Given the description of an element on the screen output the (x, y) to click on. 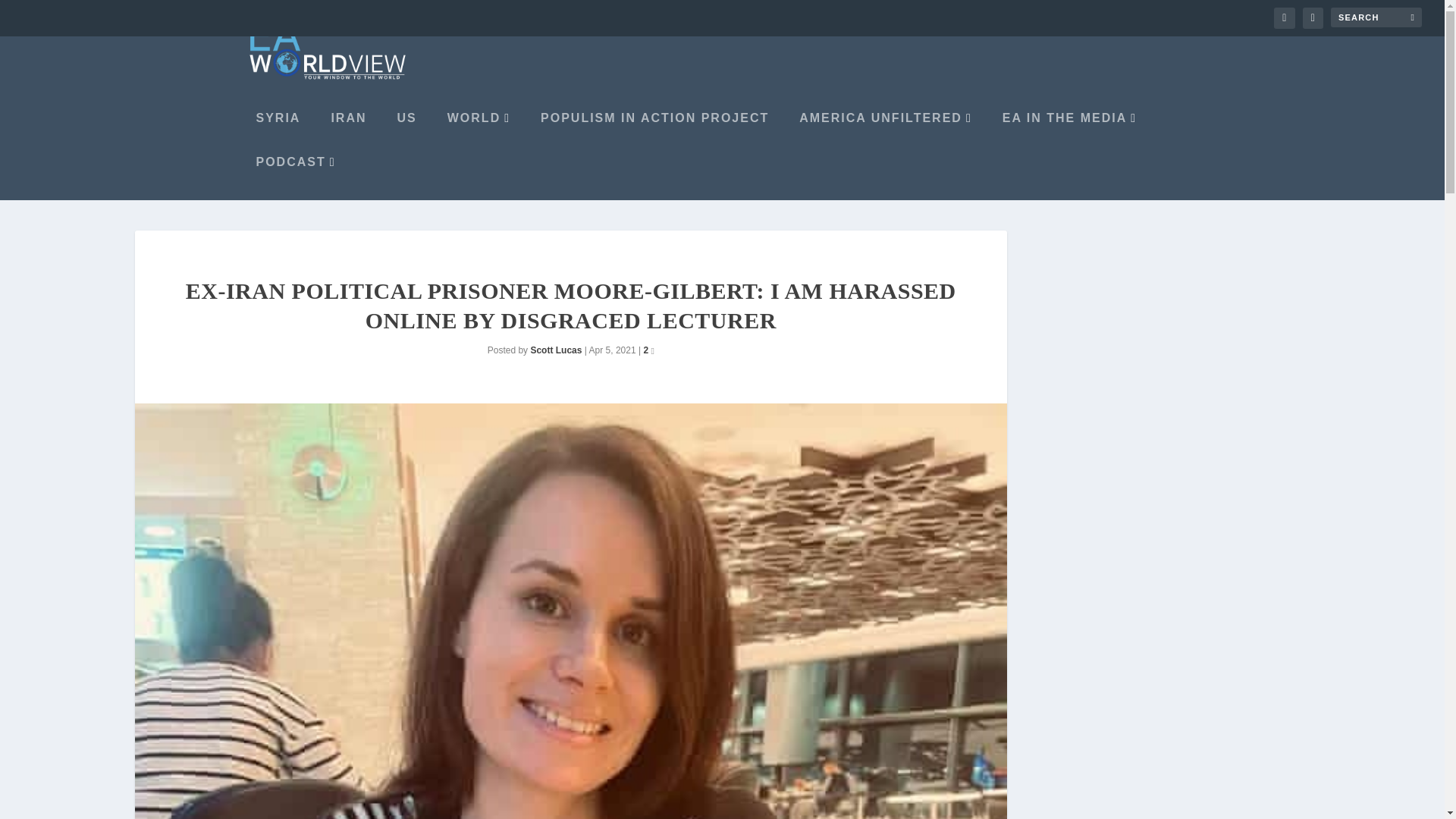
POPULISM IN ACTION PROJECT (650, 134)
EA IN THE MEDIA (1065, 134)
WORLD (475, 134)
Posts by Scott Lucas (554, 348)
Scott Lucas (554, 348)
PODCAST (292, 177)
IRAN (344, 134)
Search for: (1376, 17)
SYRIA (274, 134)
2 (648, 348)
